Given the description of an element on the screen output the (x, y) to click on. 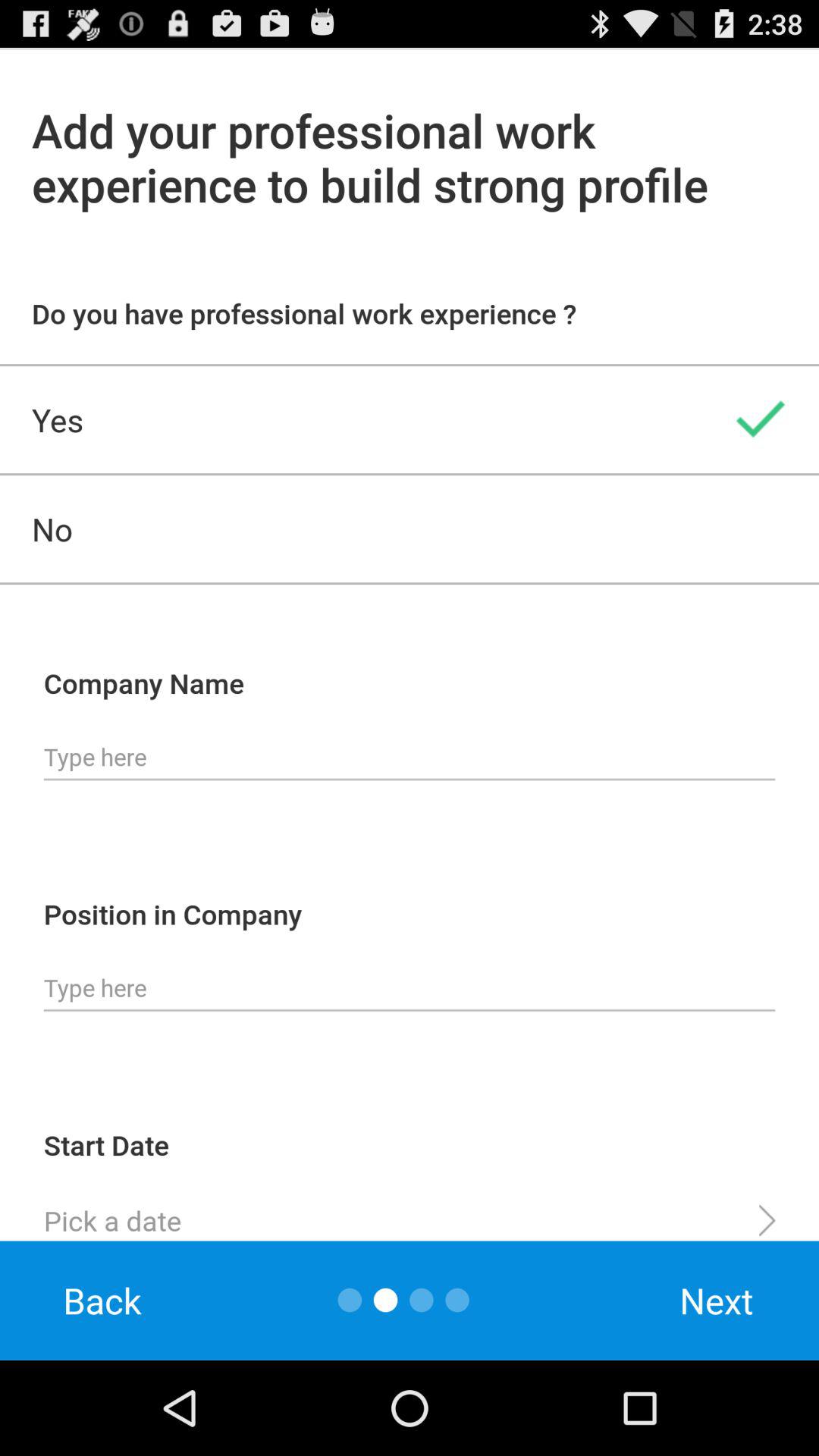
click no icon (409, 528)
